Given the description of an element on the screen output the (x, y) to click on. 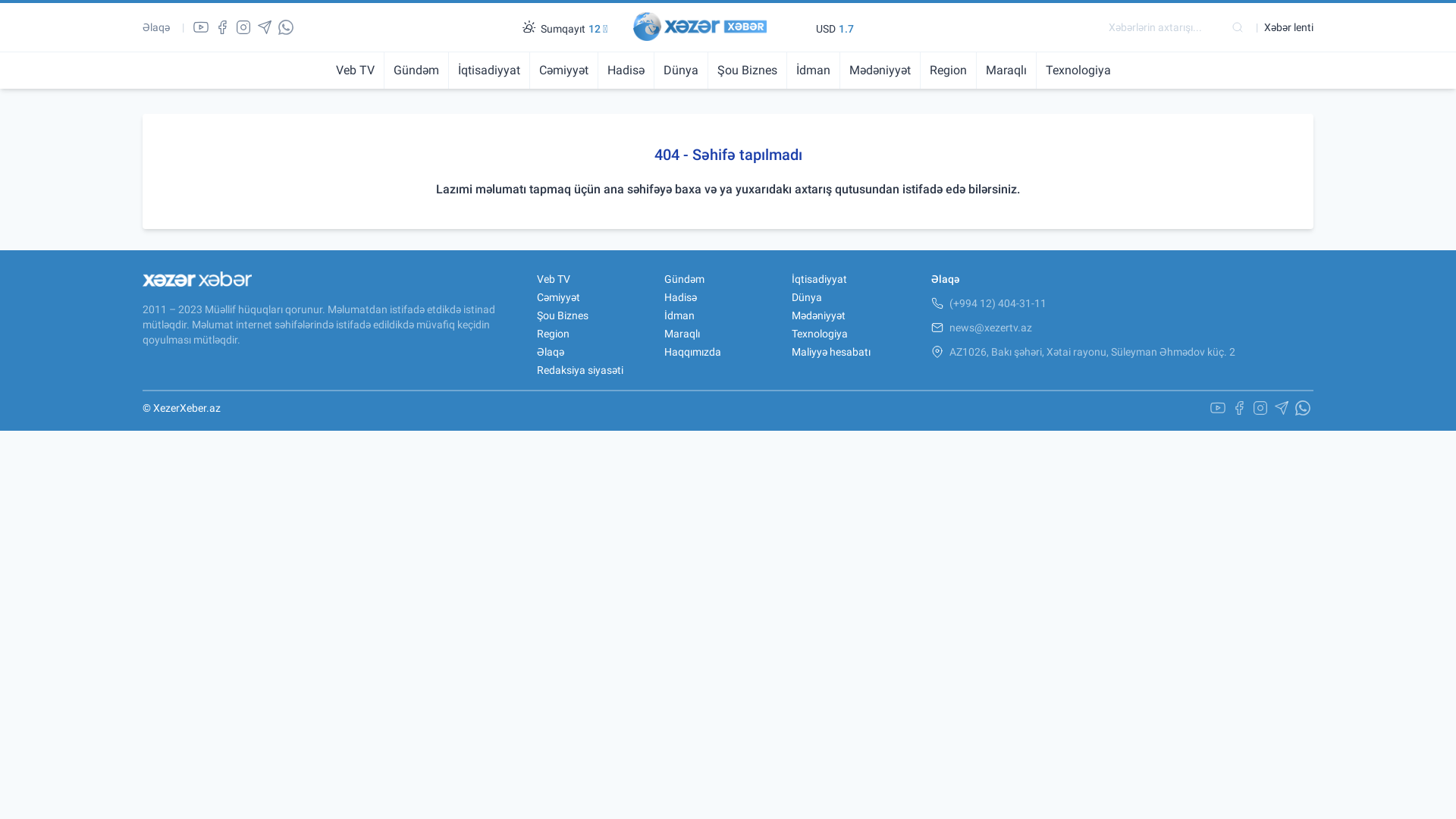
Veb TV Element type: text (553, 279)
Texnologiya Element type: text (1078, 70)
Region Element type: text (947, 70)
Veb TV Element type: text (359, 70)
Texnologiya Element type: text (819, 333)
Region Element type: text (552, 333)
